Given the description of an element on the screen output the (x, y) to click on. 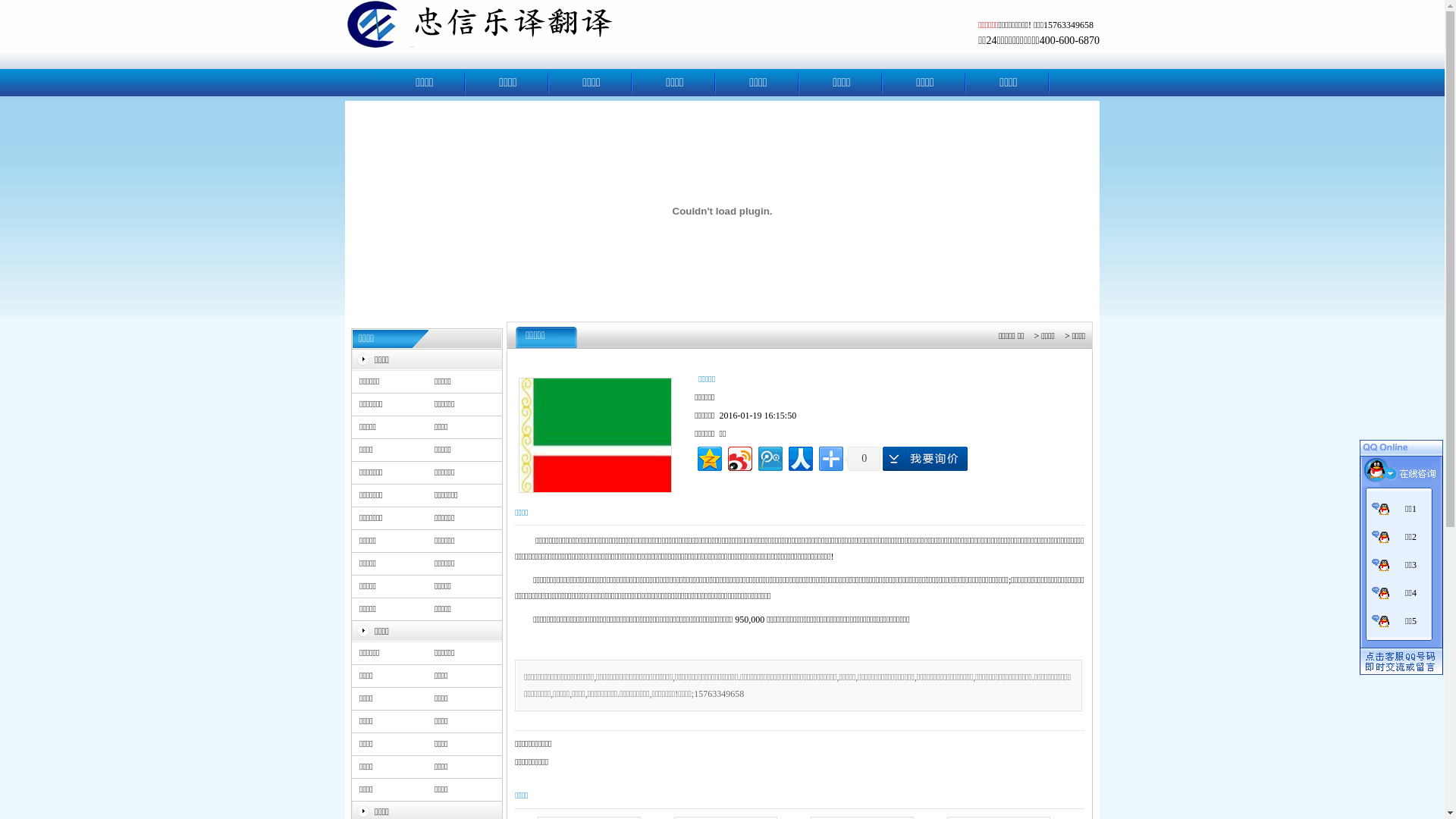
0 Element type: text (862, 458)
